Given the description of an element on the screen output the (x, y) to click on. 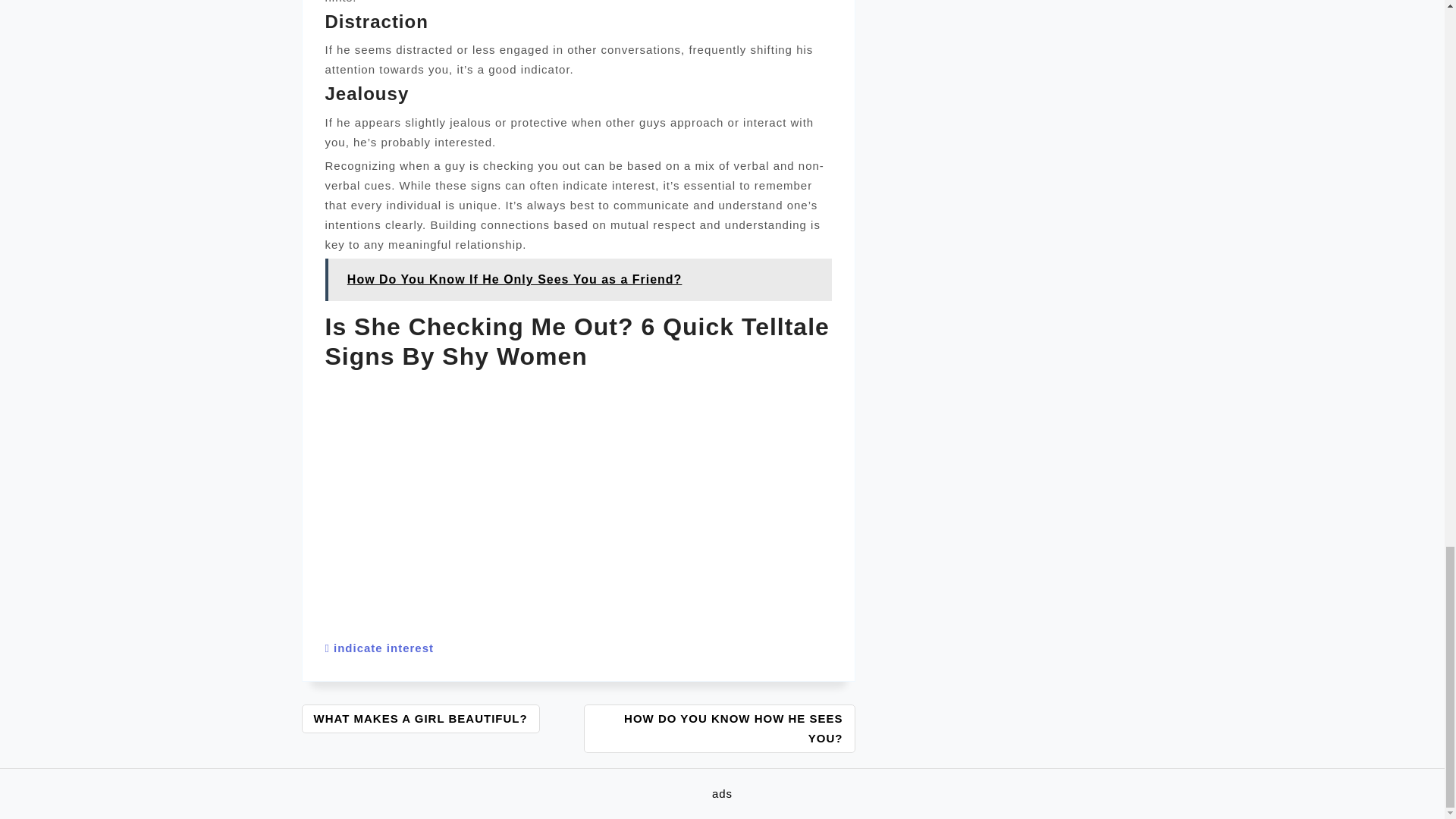
  How Do You Know If He Only Sees You as a Friend? (577, 279)
HOW DO YOU KNOW HOW HE SEES YOU? (719, 728)
indicate interest (383, 647)
WHAT MAKES A GIRL BEAUTIFUL? (420, 718)
